Given the description of an element on the screen output the (x, y) to click on. 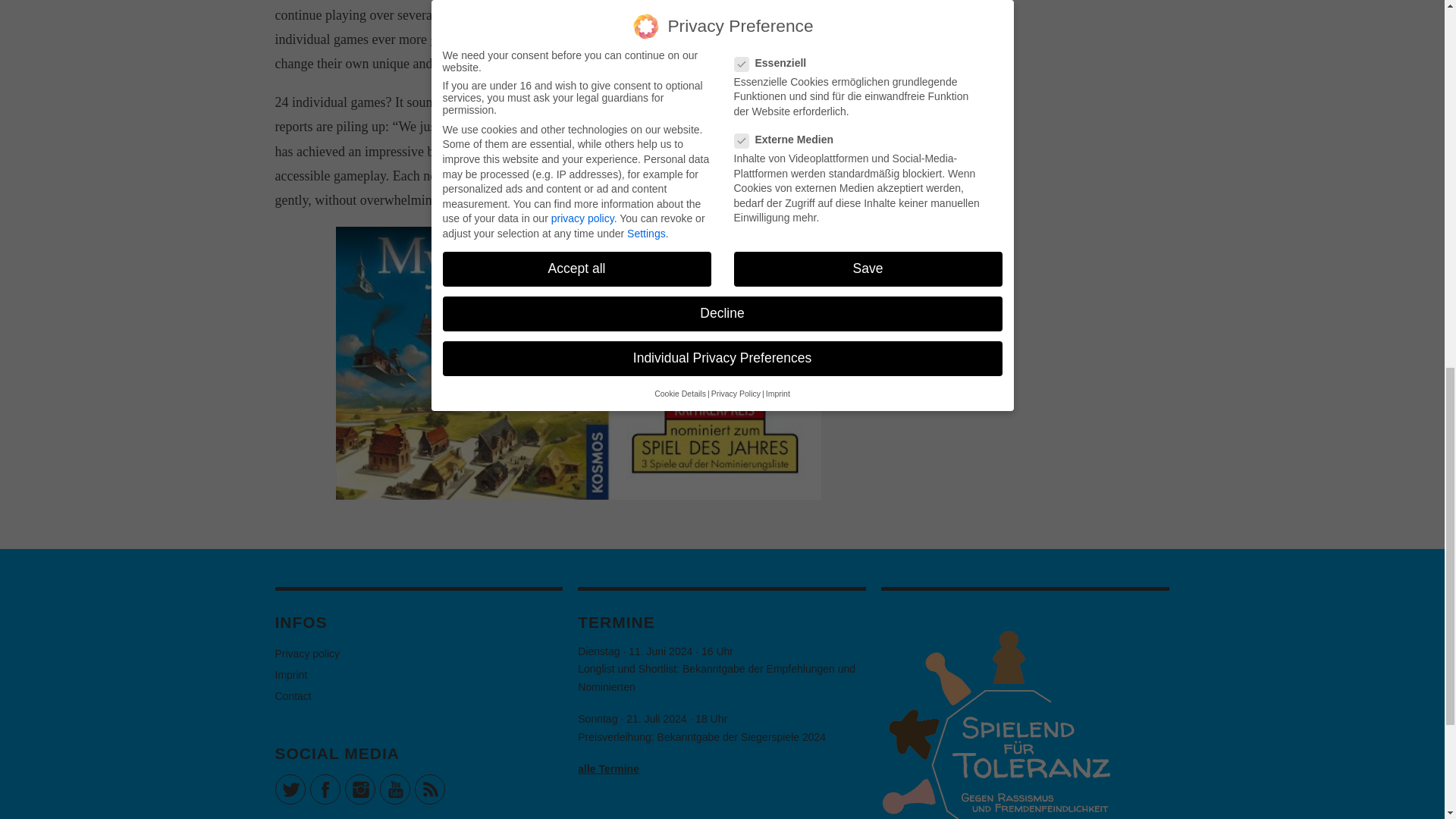
Facebook (323, 788)
Facebook (323, 788)
alle Termine (608, 768)
Privacy policy (307, 653)
Instagram (358, 788)
RSS Feed (428, 788)
RSS Feed (428, 788)
Imprint (291, 674)
Contact (293, 695)
YouTube (393, 788)
YouTube (393, 788)
Instagram (358, 788)
Twitter (289, 788)
Twitter (289, 788)
